Given the description of an element on the screen output the (x, y) to click on. 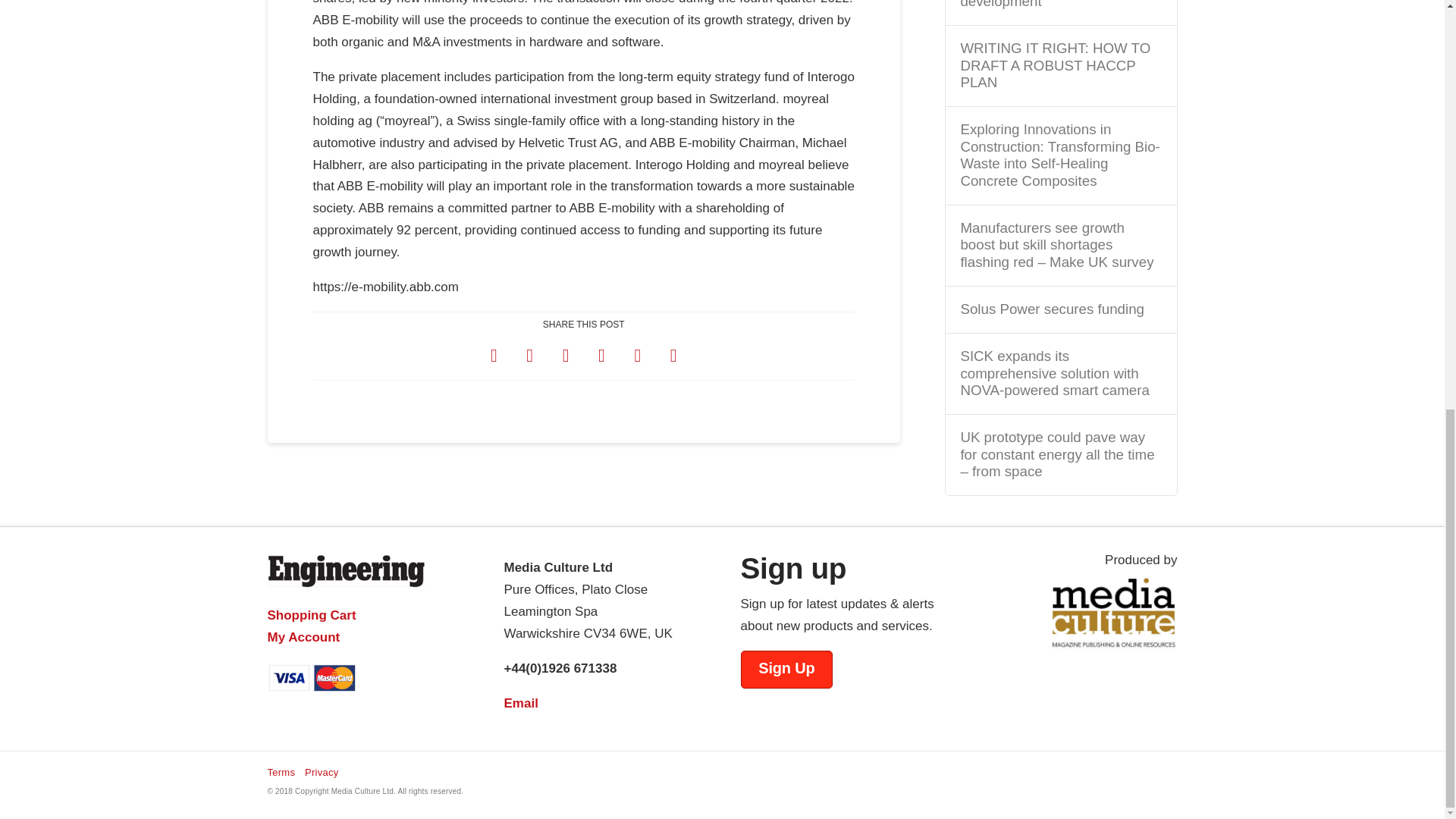
Sign up (785, 668)
Share on Reddit (636, 355)
WRITING IT RIGHT: HOW TO DRAFT A ROBUST HACCP PLAN (1060, 65)
Share on Facebook (494, 355)
Solus Power secures funding (1060, 309)
Share on Twitter (529, 355)
Shopping Cart (310, 615)
My Account (302, 636)
Share on Pinterest (601, 355)
Share on LinkedIn (565, 355)
Email (520, 703)
Share via Email (673, 355)
